Given the description of an element on the screen output the (x, y) to click on. 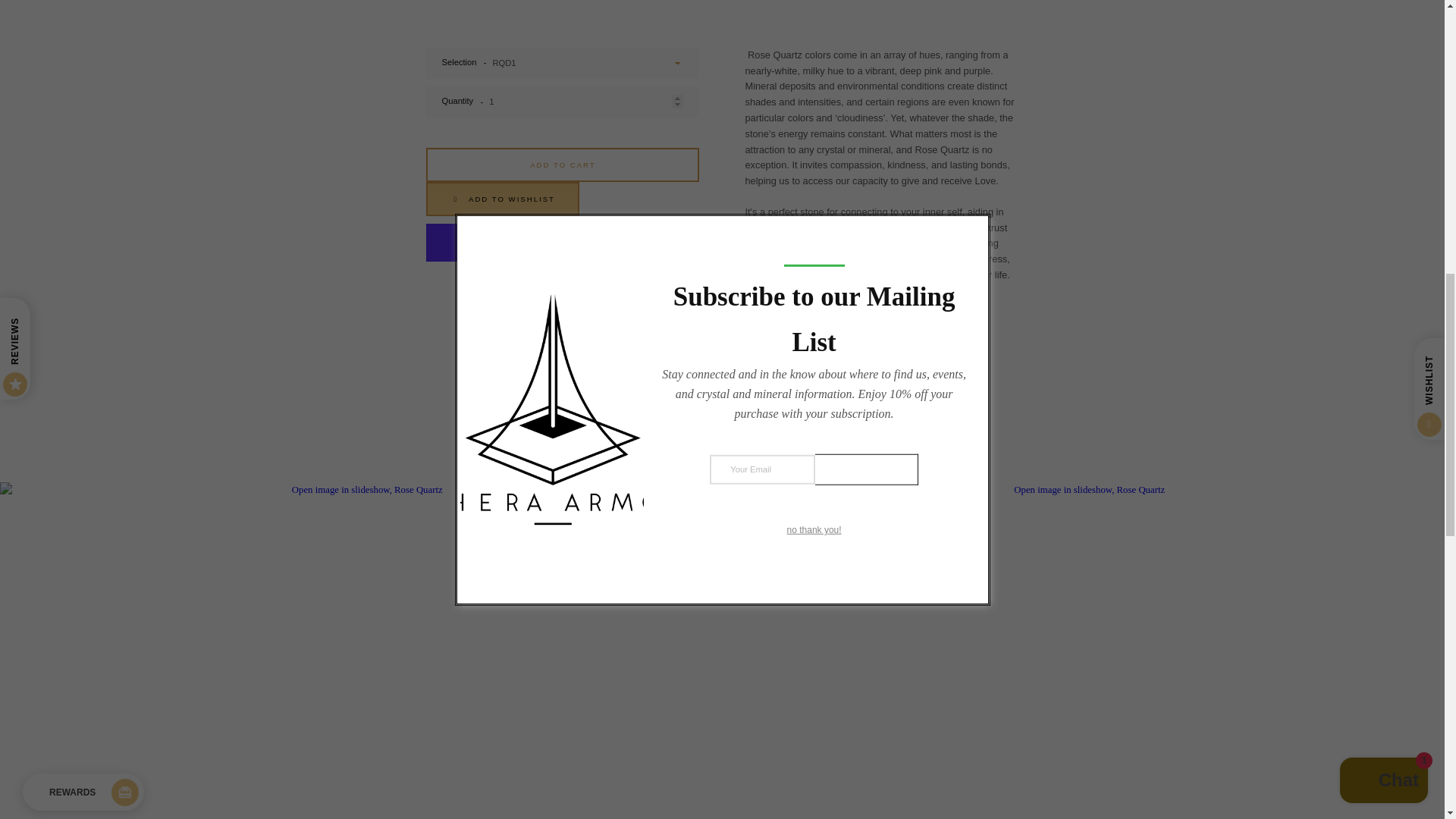
More payment options (563, 277)
Add to Wishlist (562, 198)
ADD TO WISHLIST (502, 198)
ADD TO CART (562, 164)
1 (562, 101)
SHARE (562, 322)
